Given the description of an element on the screen output the (x, y) to click on. 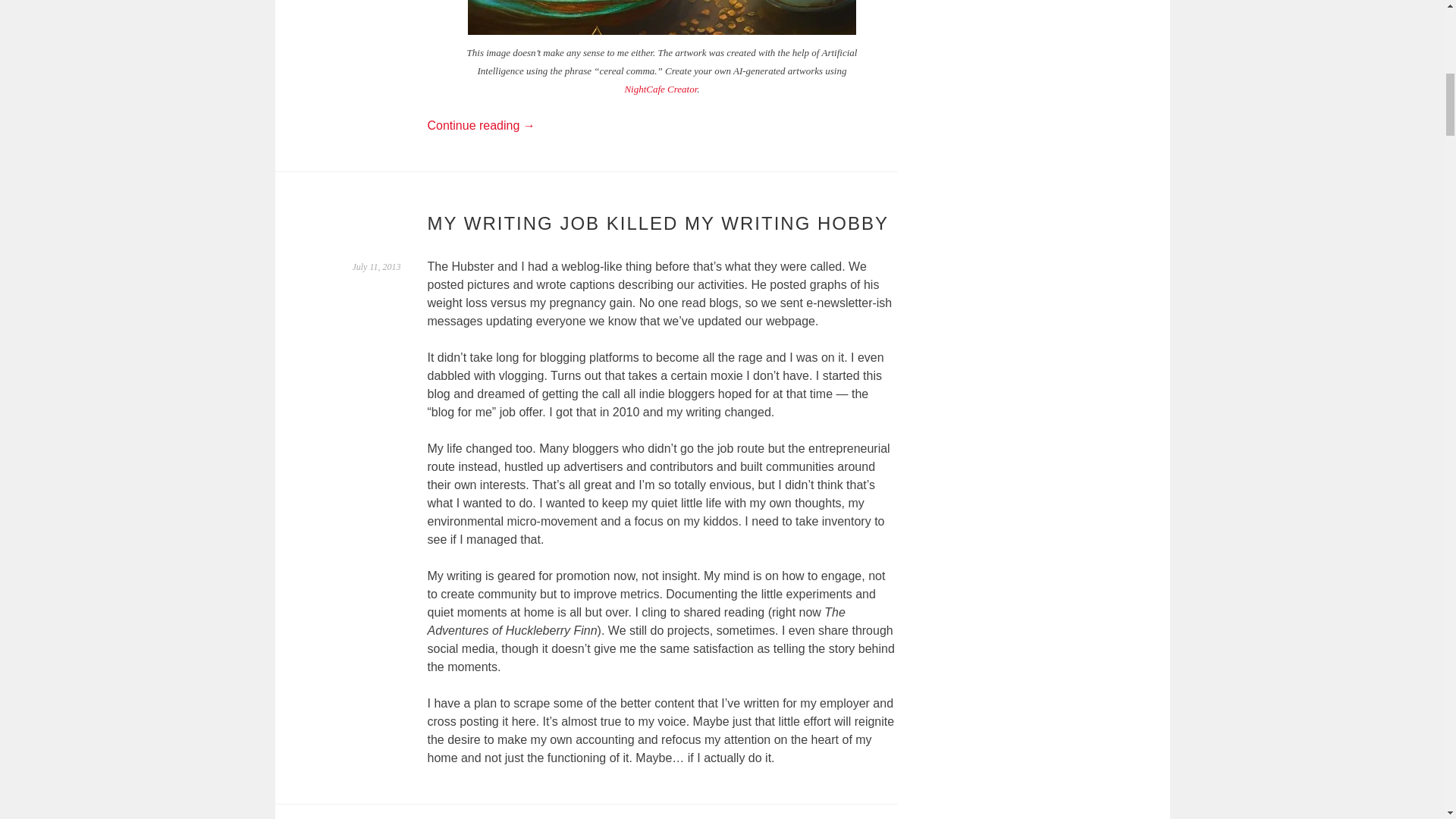
Permalink to My Writing Job Killed My Writing Hobby (376, 266)
MY WRITING JOB KILLED MY WRITING HOBBY (658, 222)
Scroll back to top (470, 27)
NightCafe Creator (660, 89)
July 11, 2013 (376, 266)
